Given the description of an element on the screen output the (x, y) to click on. 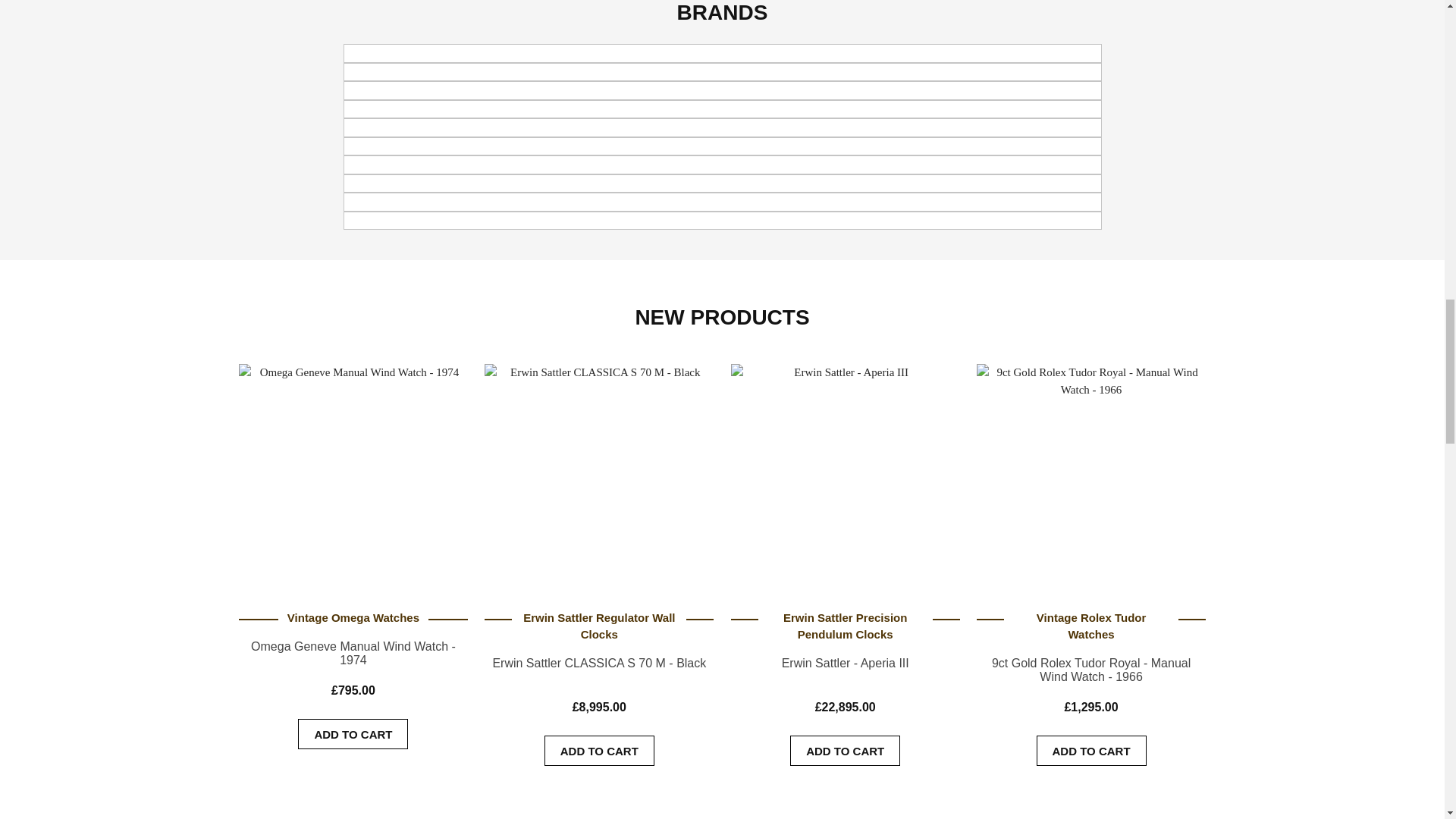
Erwin Sattler - Aperia III  (844, 468)
9ct Gold Rolex Tudor Royal - Manual Wind Watch - 1966 (1090, 468)
Omega Geneve Manual Wind Watch - 1974 (352, 468)
Erwin Sattler CLASSICA S 70 M - Black (598, 468)
